Given the description of an element on the screen output the (x, y) to click on. 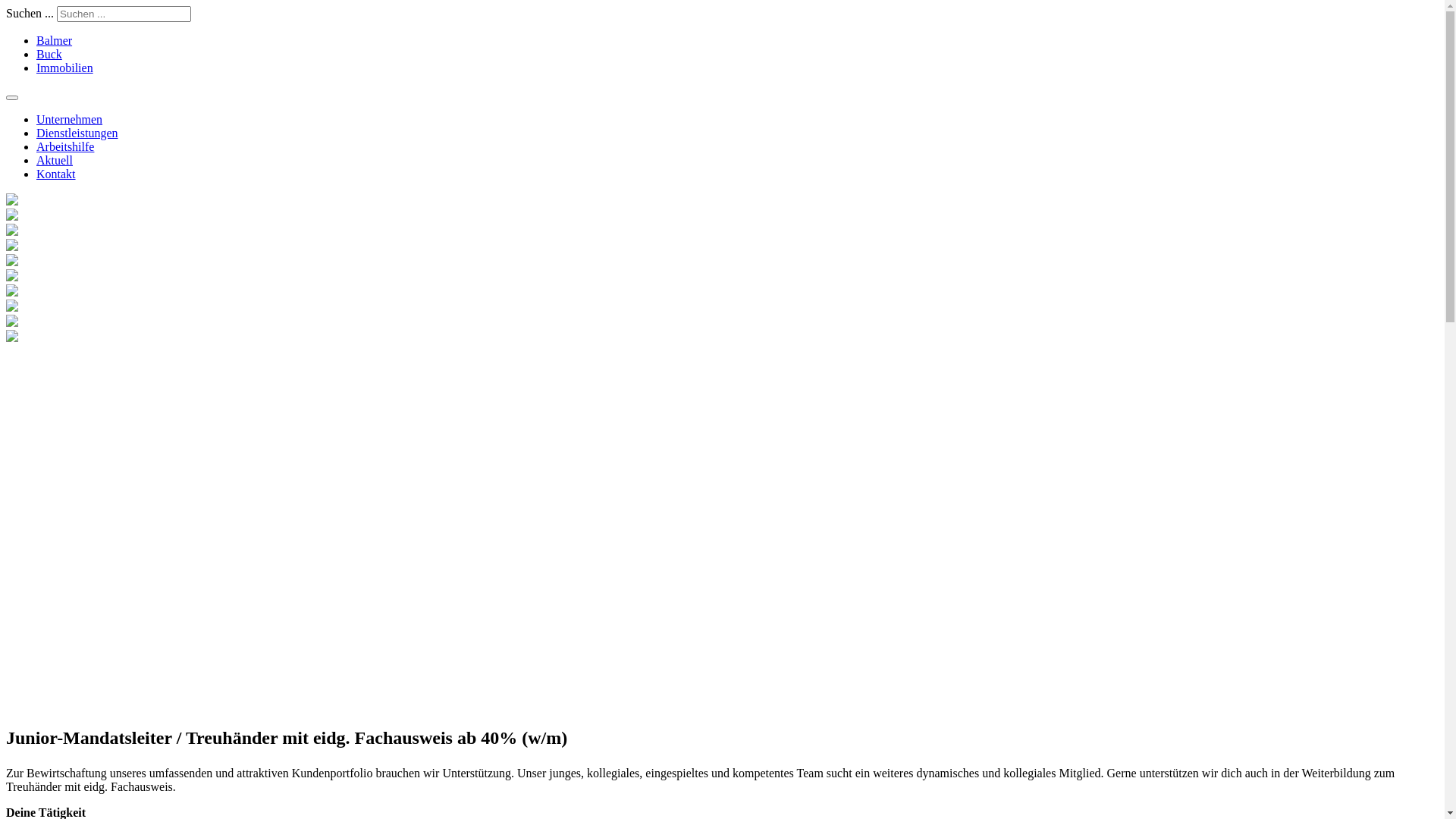
Immobilien Element type: text (64, 67)
Arbeitshilfe Element type: text (65, 146)
Kontakt Element type: text (55, 173)
Dienstleistungen Element type: text (77, 132)
Balmer Element type: text (54, 40)
Aktuell Element type: text (54, 159)
Unternehmen Element type: text (69, 118)
Buck Element type: text (49, 53)
